Given the description of an element on the screen output the (x, y) to click on. 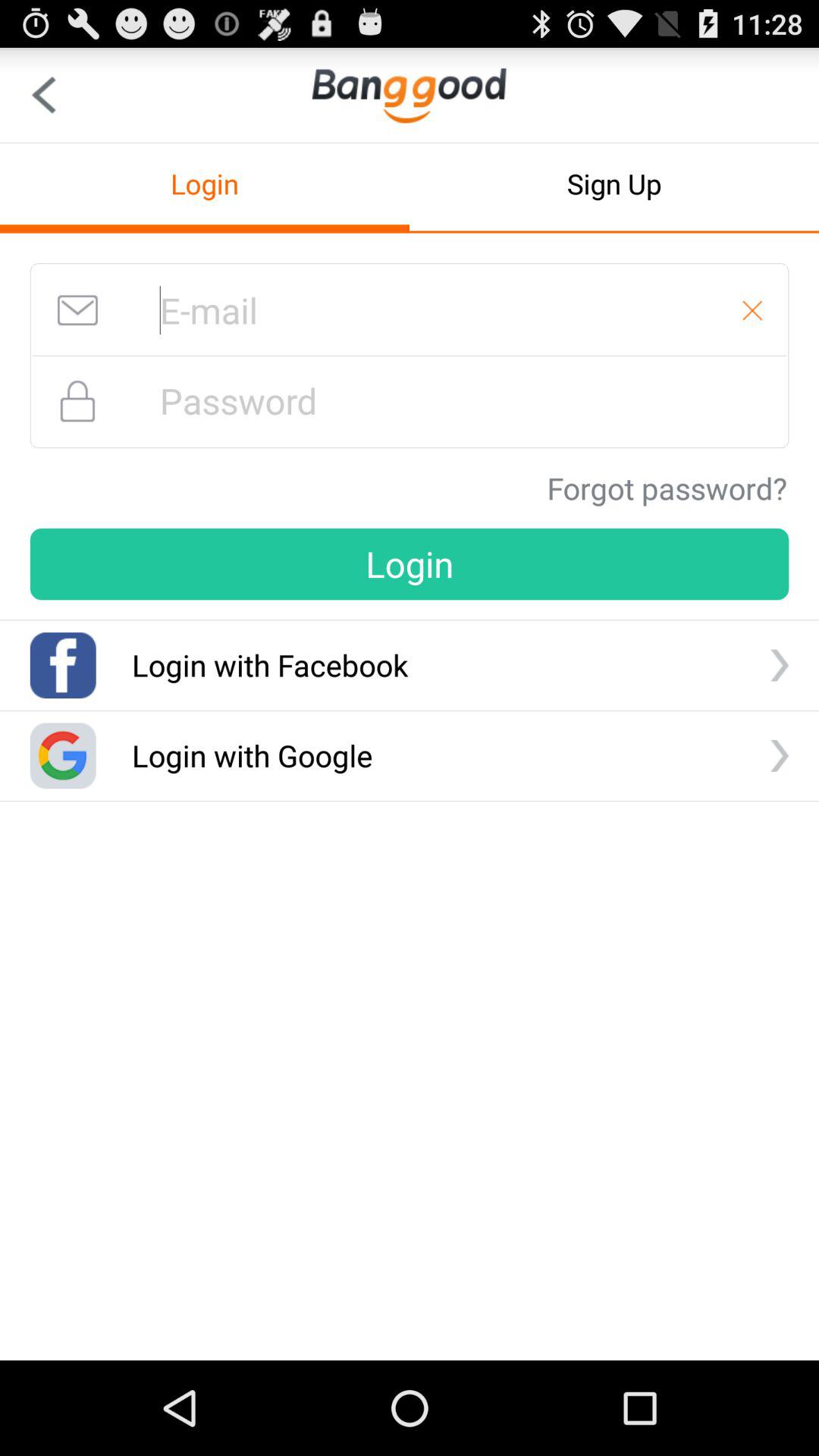
enter password (409, 400)
